Given the description of an element on the screen output the (x, y) to click on. 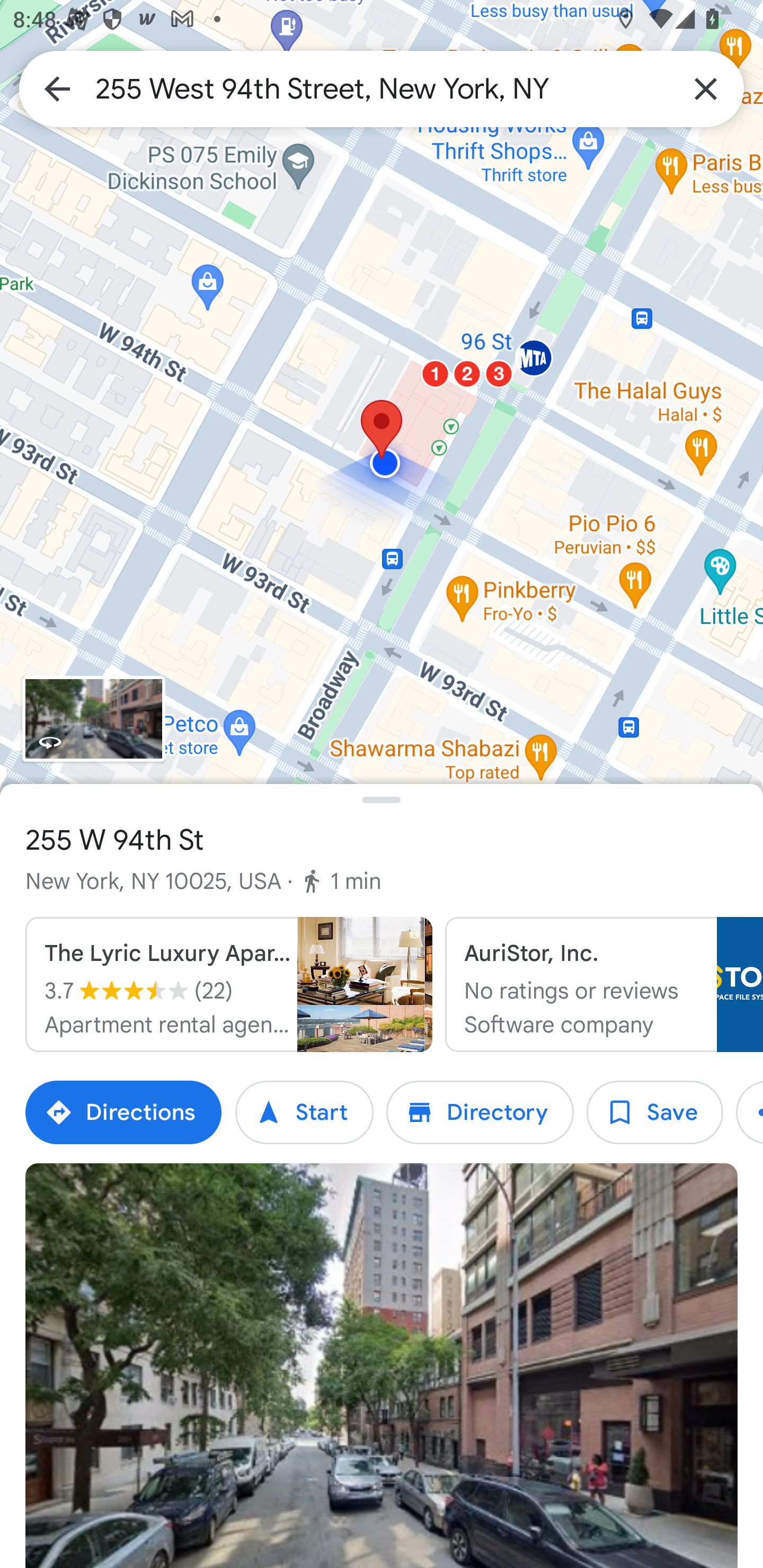
Back (57, 88)
255 West 94th Street, New York, NY (381, 88)
Clear (705, 88)
View Street view imagery for 255 W 94th St (93, 718)
Start Start Start (304, 1112)
Directory Directory Directory (479, 1112)
Photo (381, 1365)
